Given the description of an element on the screen output the (x, y) to click on. 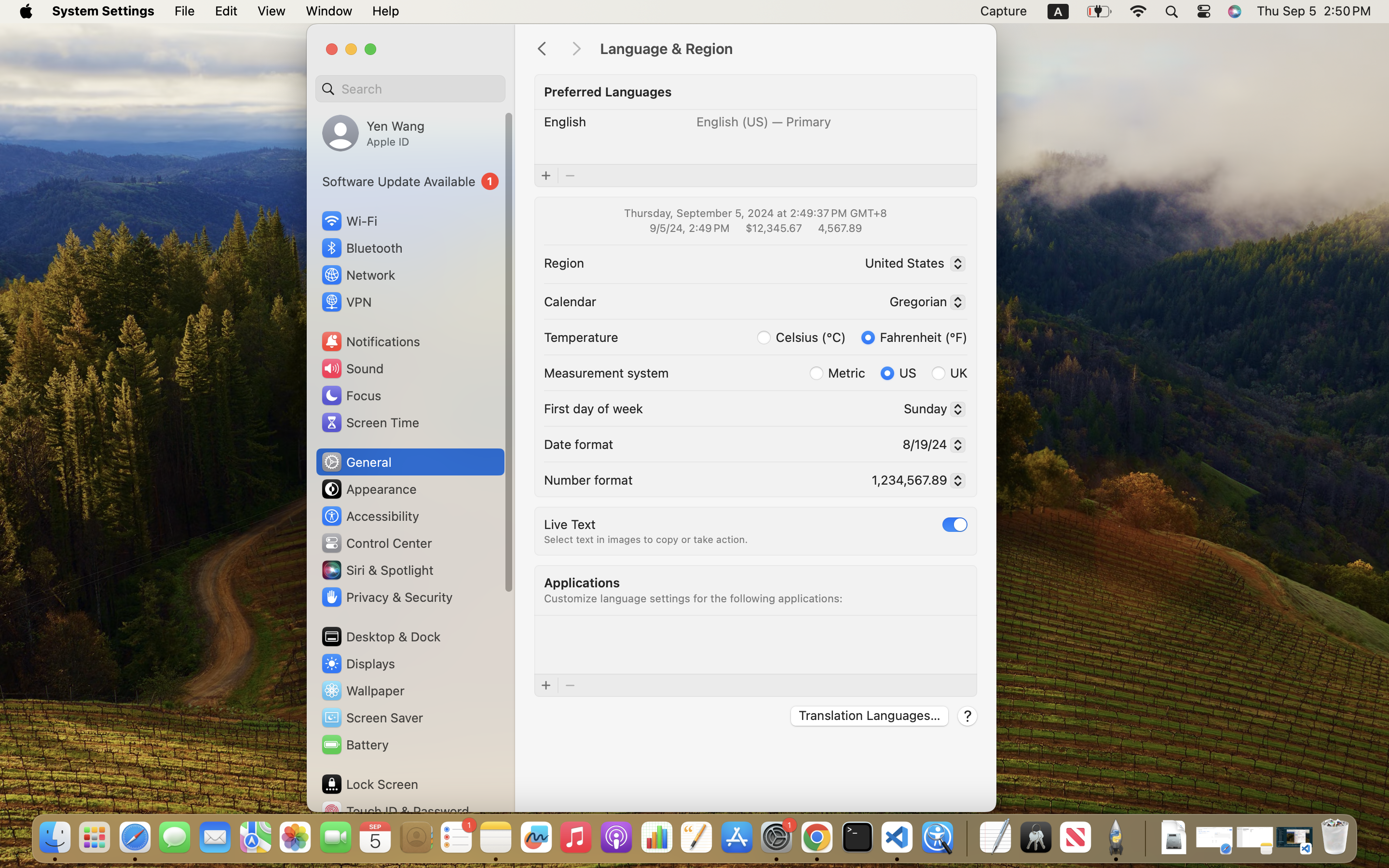
Screen Saver Element type: AXStaticText (371, 717)
VPN Element type: AXStaticText (345, 301)
Notifications Element type: AXStaticText (370, 340)
0.4285714328289032 Element type: AXDockItem (965, 837)
Displays Element type: AXStaticText (357, 663)
